Given the description of an element on the screen output the (x, y) to click on. 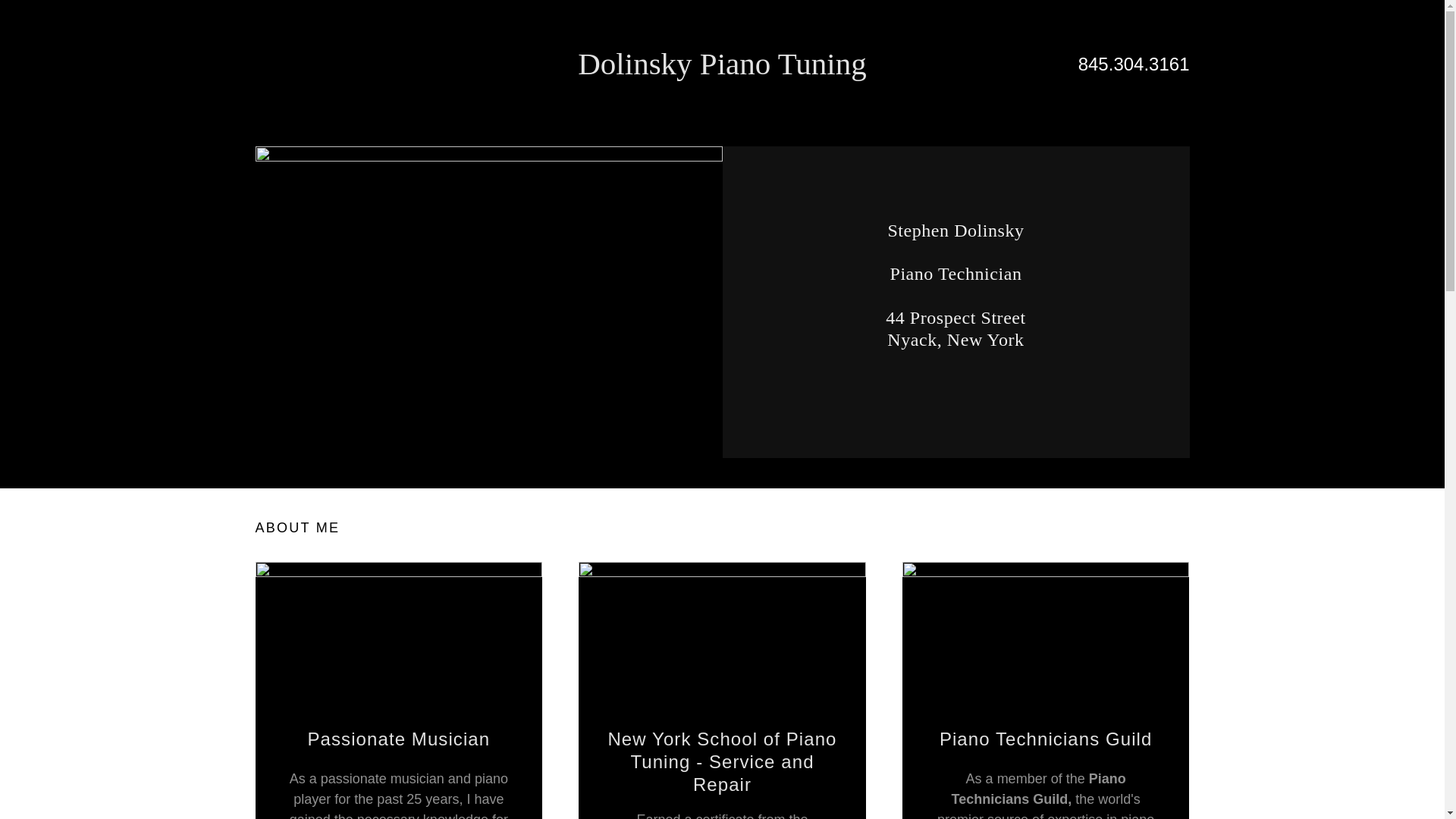
Dolinsky Piano Tuning (721, 69)
845.304.3161 (1133, 63)
Dolinsky Piano Tuning (721, 69)
